Given the description of an element on the screen output the (x, y) to click on. 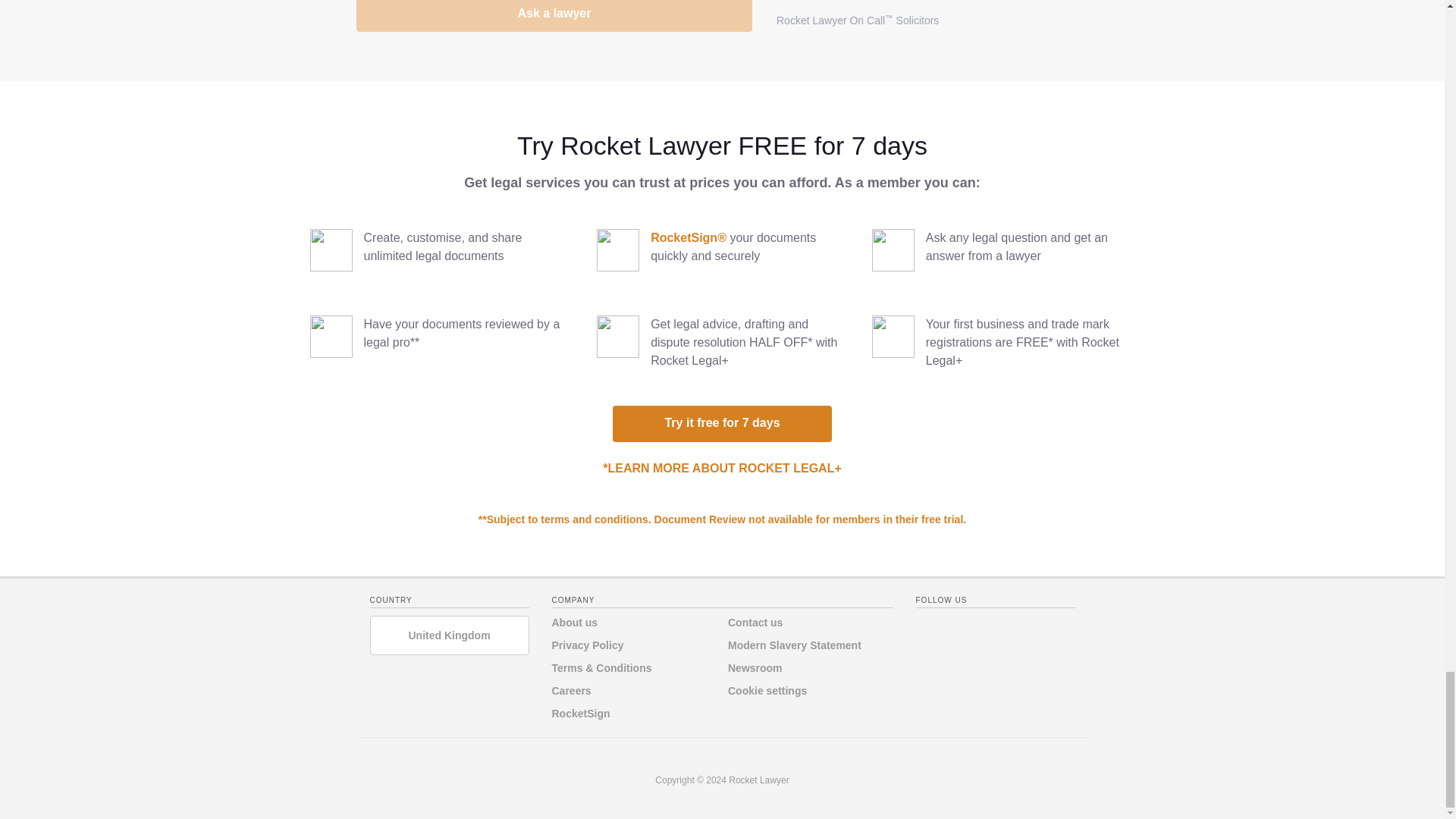
twitter (957, 626)
linkedin (987, 626)
Ask a lawyer (554, 15)
facebook (927, 626)
